Given the description of an element on the screen output the (x, y) to click on. 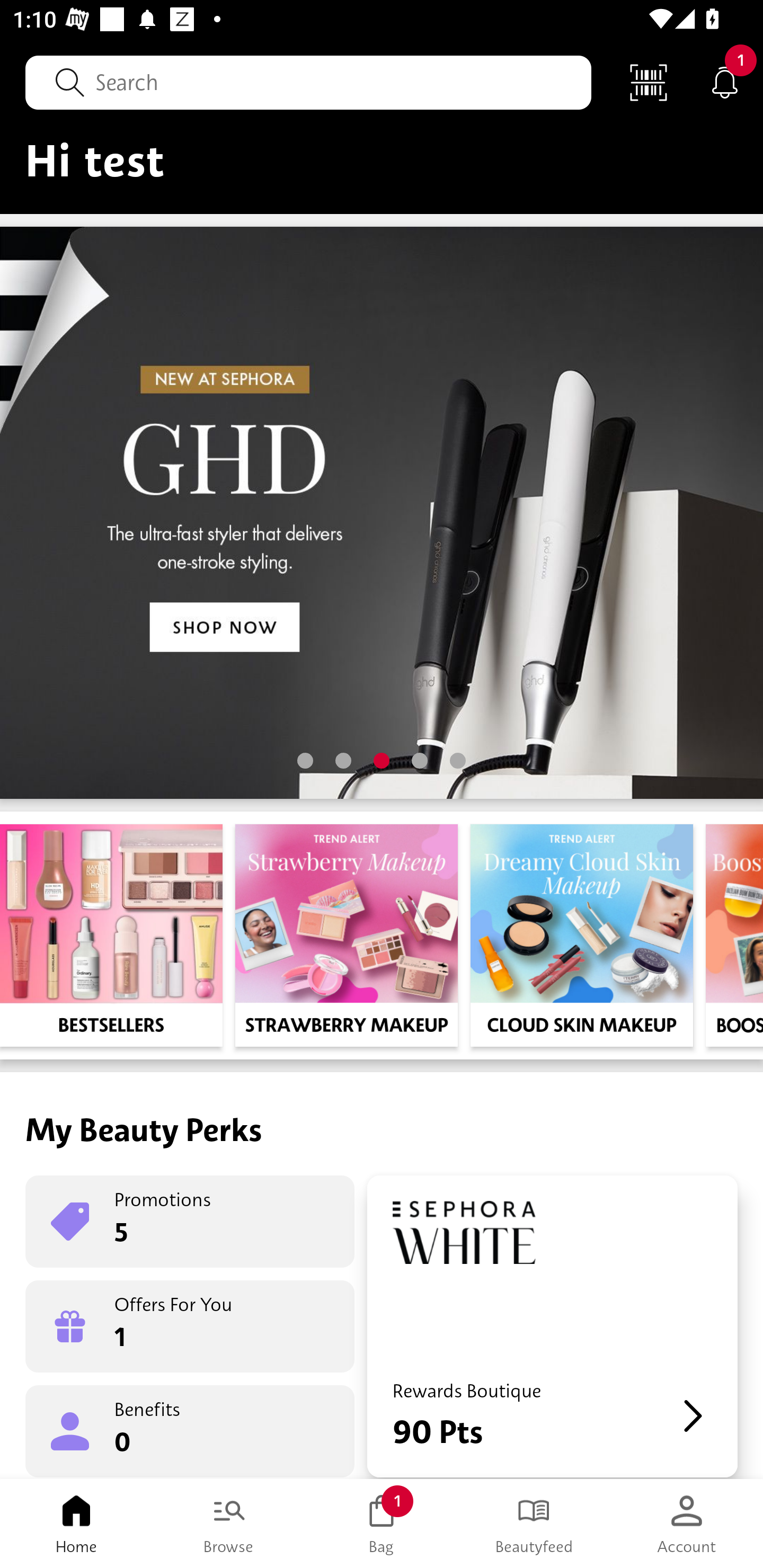
Scan Code (648, 81)
Notifications (724, 81)
Search (308, 81)
Promotions 5 (189, 1221)
Rewards Boutique 90 Pts (552, 1326)
Offers For You 1 (189, 1326)
Benefits 0 (189, 1430)
Browse (228, 1523)
Bag 1 Bag (381, 1523)
Beautyfeed (533, 1523)
Account (686, 1523)
